Given the description of an element on the screen output the (x, y) to click on. 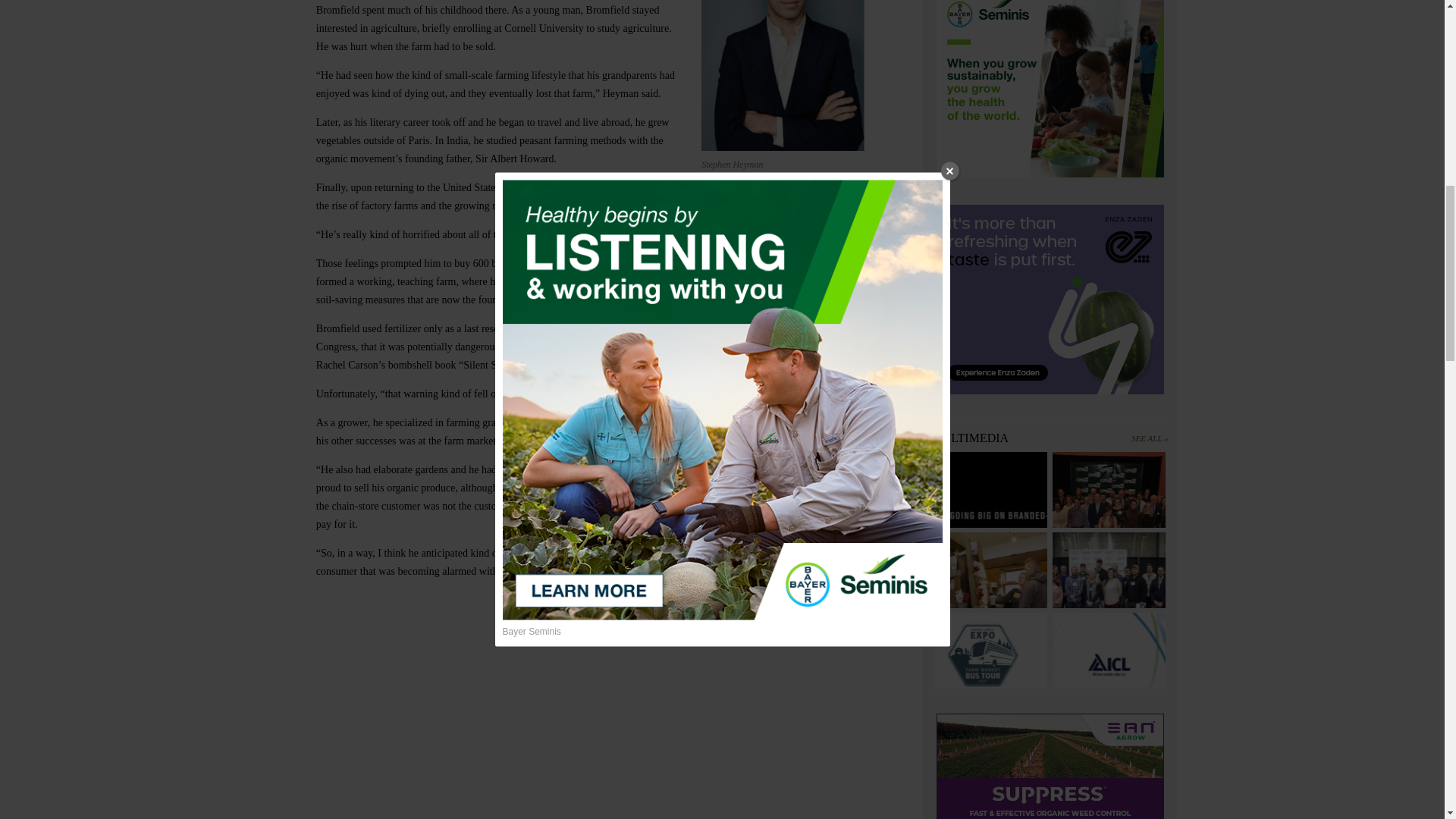
SAN Agrow (1049, 766)
Enza Zaden (1049, 301)
Bayer (1049, 90)
